Given the description of an element on the screen output the (x, y) to click on. 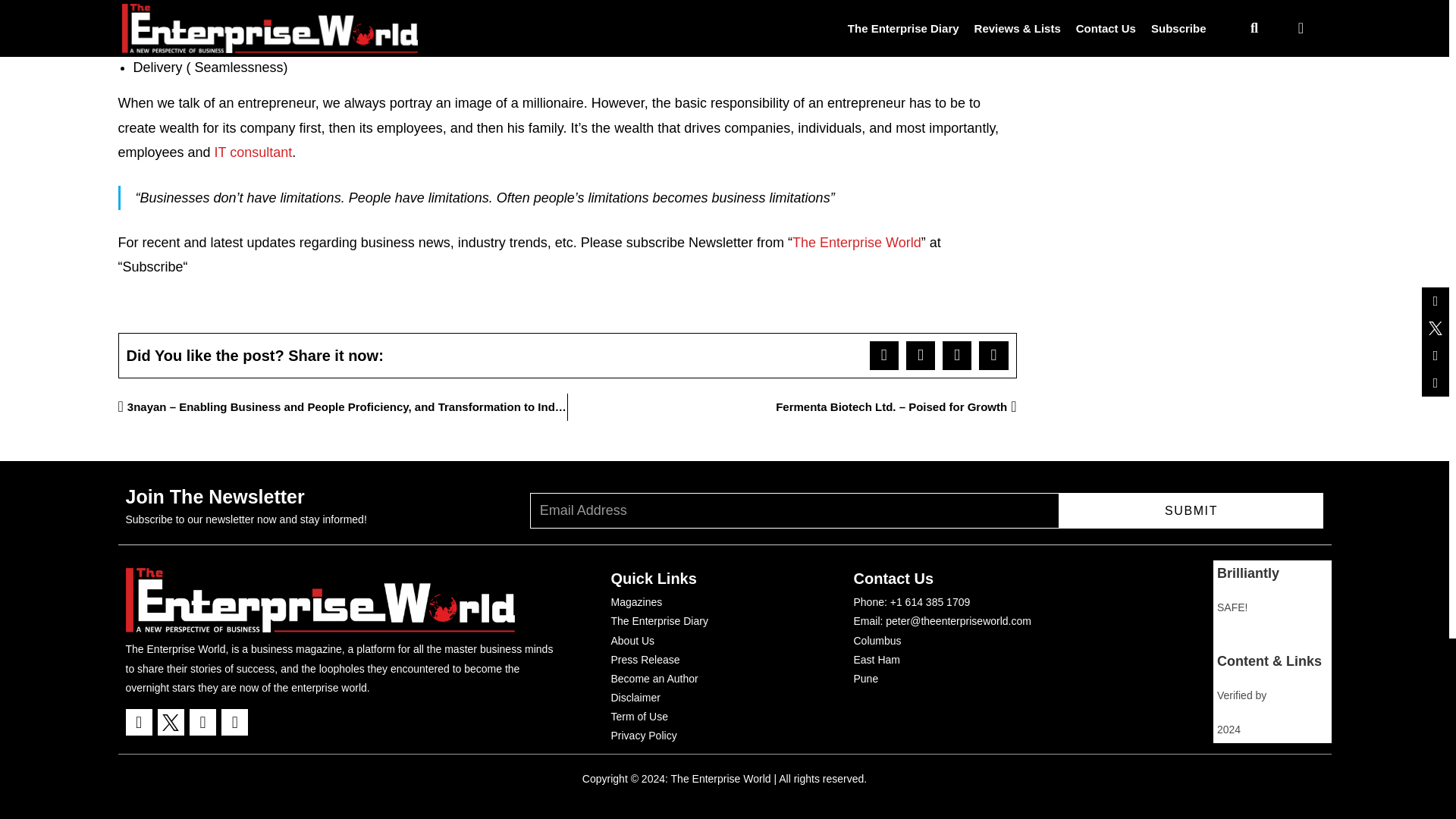
IT consultant (253, 151)
The Enterprise World (856, 242)
SUBMIT (1191, 510)
